Given the description of an element on the screen output the (x, y) to click on. 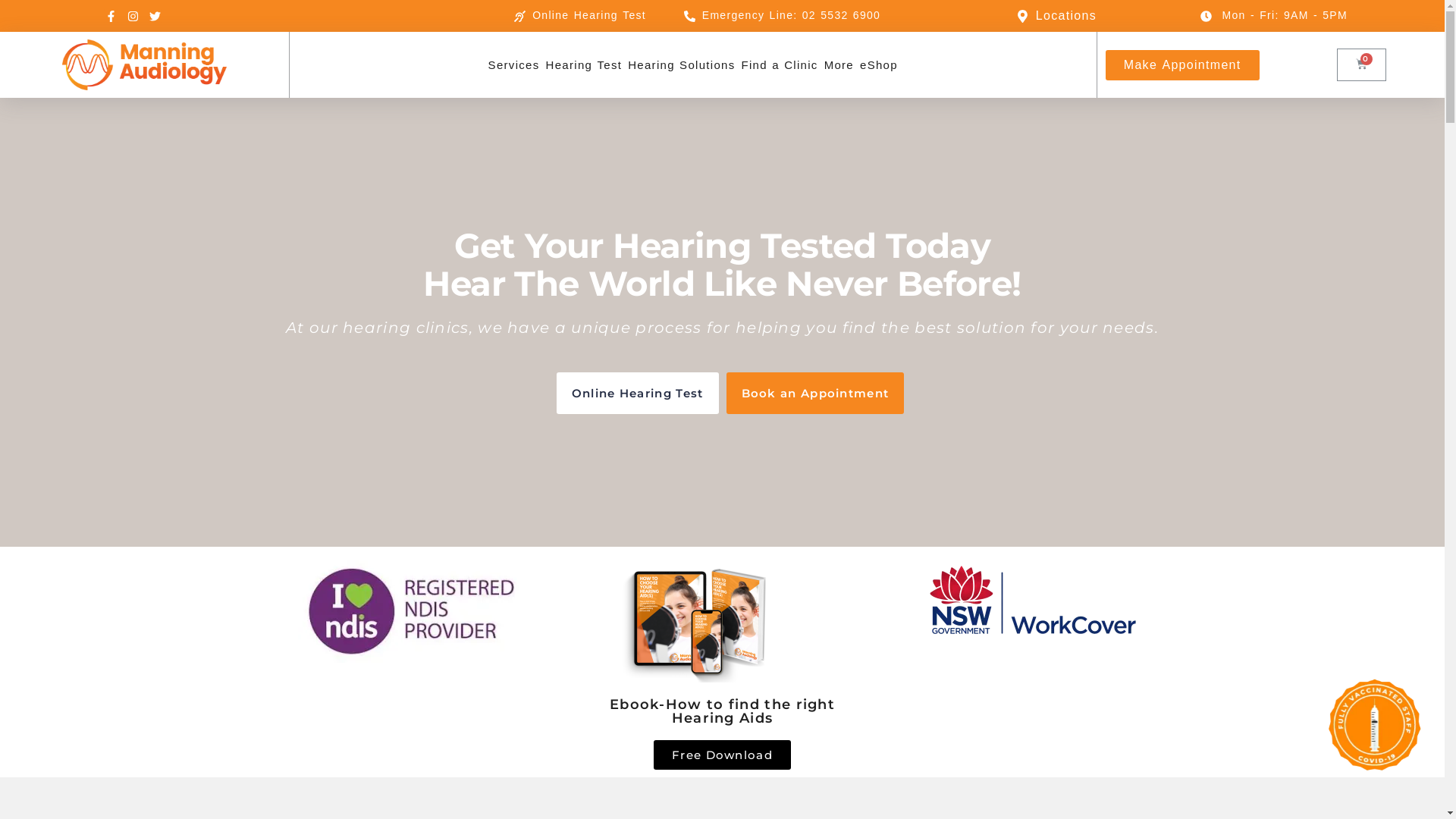
Book an Appointment Element type: text (815, 393)
More Element type: text (838, 64)
Free Download Element type: text (721, 754)
Emergency Line: 02 5532 6900 Element type: text (782, 15)
Online Hearing Test Element type: text (637, 393)
Locations Element type: text (995, 15)
0 Element type: text (1361, 64)
Online Hearing Test Element type: text (580, 15)
Services Element type: text (513, 64)
Hearing Test Element type: text (583, 64)
Make Appointment Element type: text (1182, 65)
Hearing Solutions Element type: text (680, 64)
Find a Clinic Element type: text (779, 64)
eShop Element type: text (878, 64)
